Given the description of an element on the screen output the (x, y) to click on. 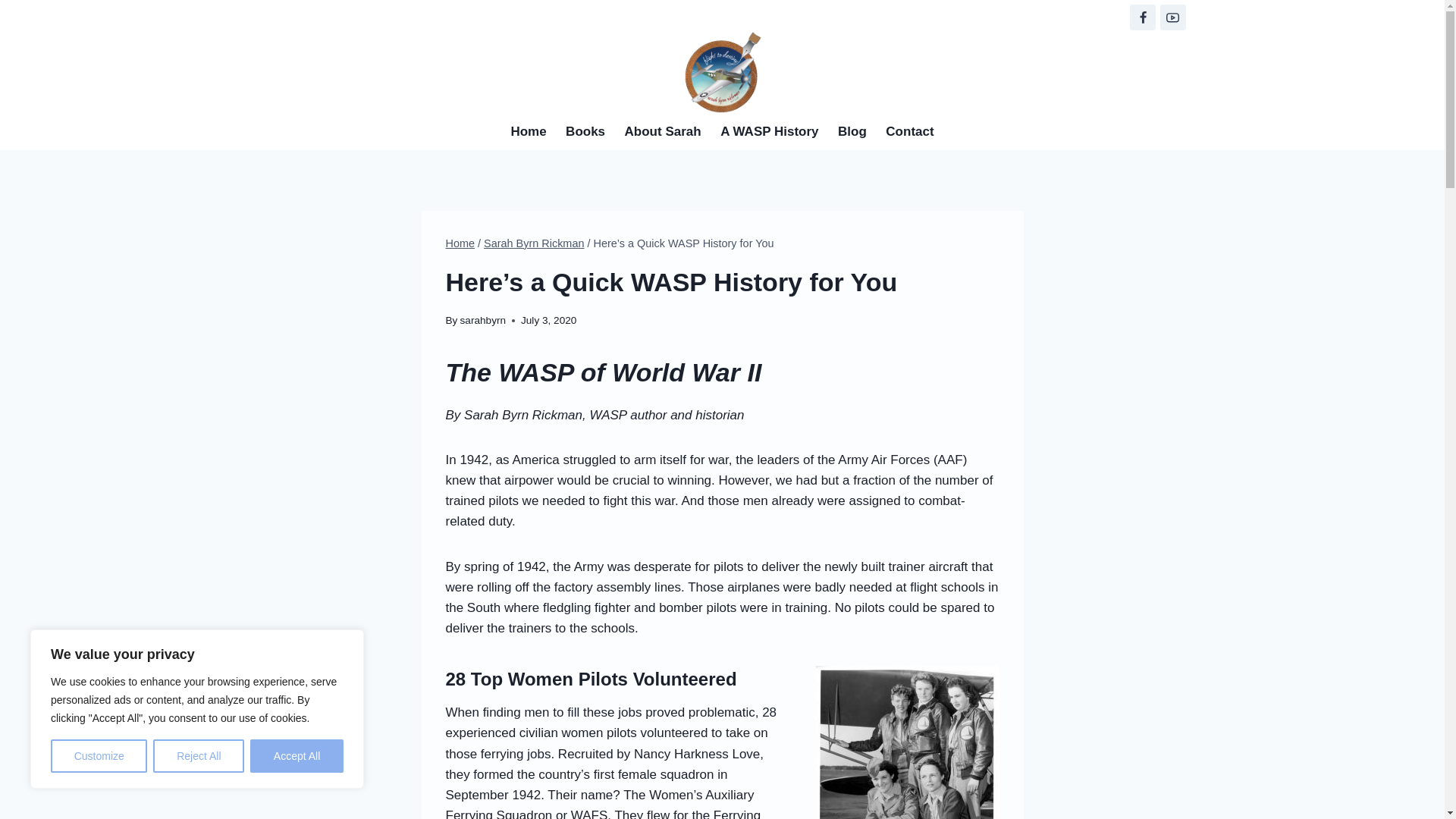
sarahbyrn (482, 319)
Accept All (296, 756)
Books (585, 131)
Sarah Byrn Rickman (533, 243)
Contact (909, 131)
Home (460, 243)
A WASP History (769, 131)
About Sarah (662, 131)
Customize (98, 756)
Reject All (198, 756)
